Given the description of an element on the screen output the (x, y) to click on. 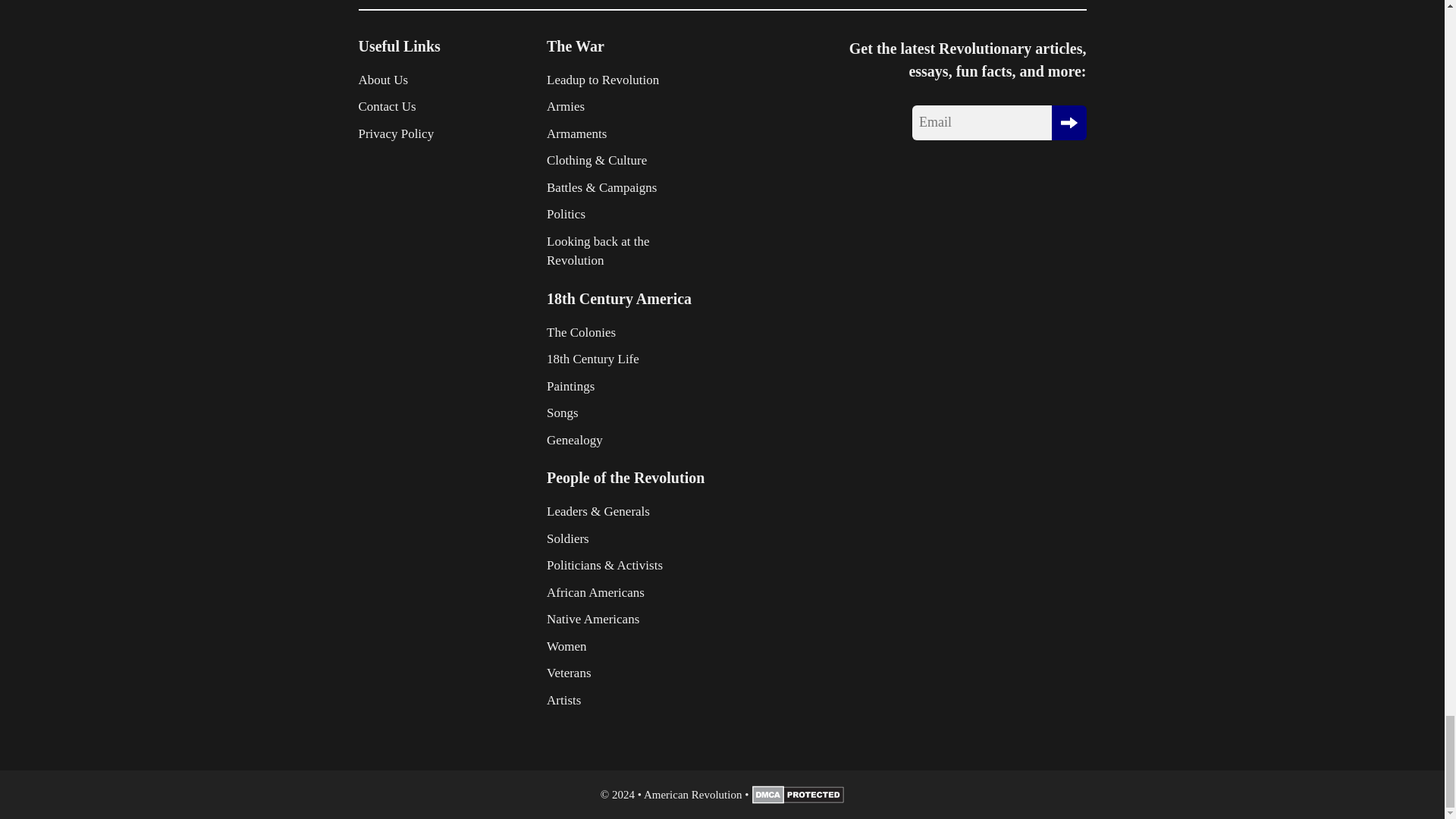
DMCA.com Protection Status (798, 799)
